Given the description of an element on the screen output the (x, y) to click on. 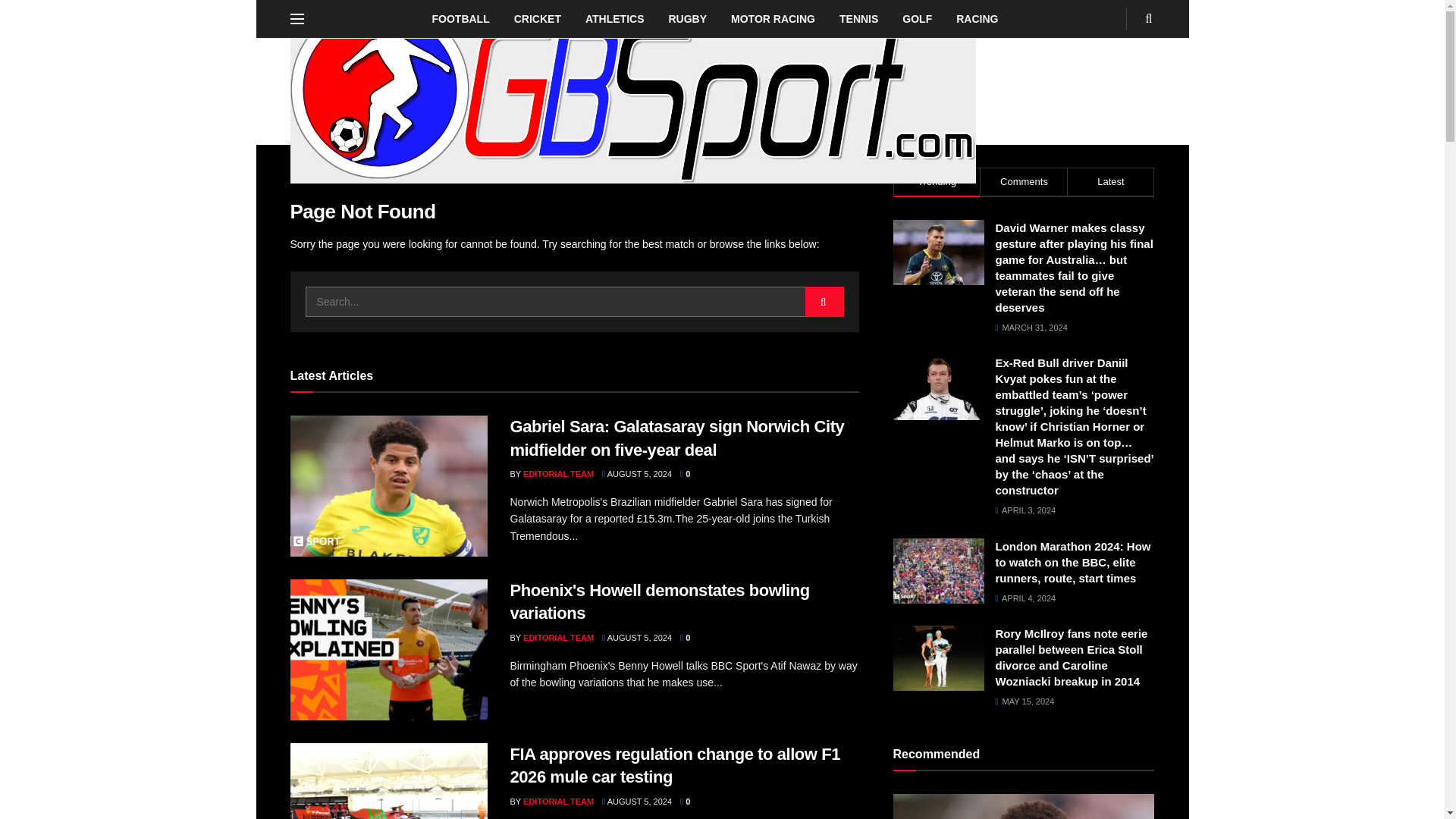
0 (684, 637)
AUGUST 5, 2024 (636, 637)
Phoenix's Howell demonstates bowling variations (659, 601)
Page Not Found (360, 175)
MOTOR RACING (773, 18)
FOOTBALL (461, 18)
0 (684, 473)
AUGUST 5, 2024 (636, 473)
ATHLETICS (614, 18)
EDITORIAL TEAM (558, 473)
RACING (976, 18)
TENNIS (858, 18)
EDITORIAL TEAM (558, 637)
GOLF (916, 18)
